Given the description of an element on the screen output the (x, y) to click on. 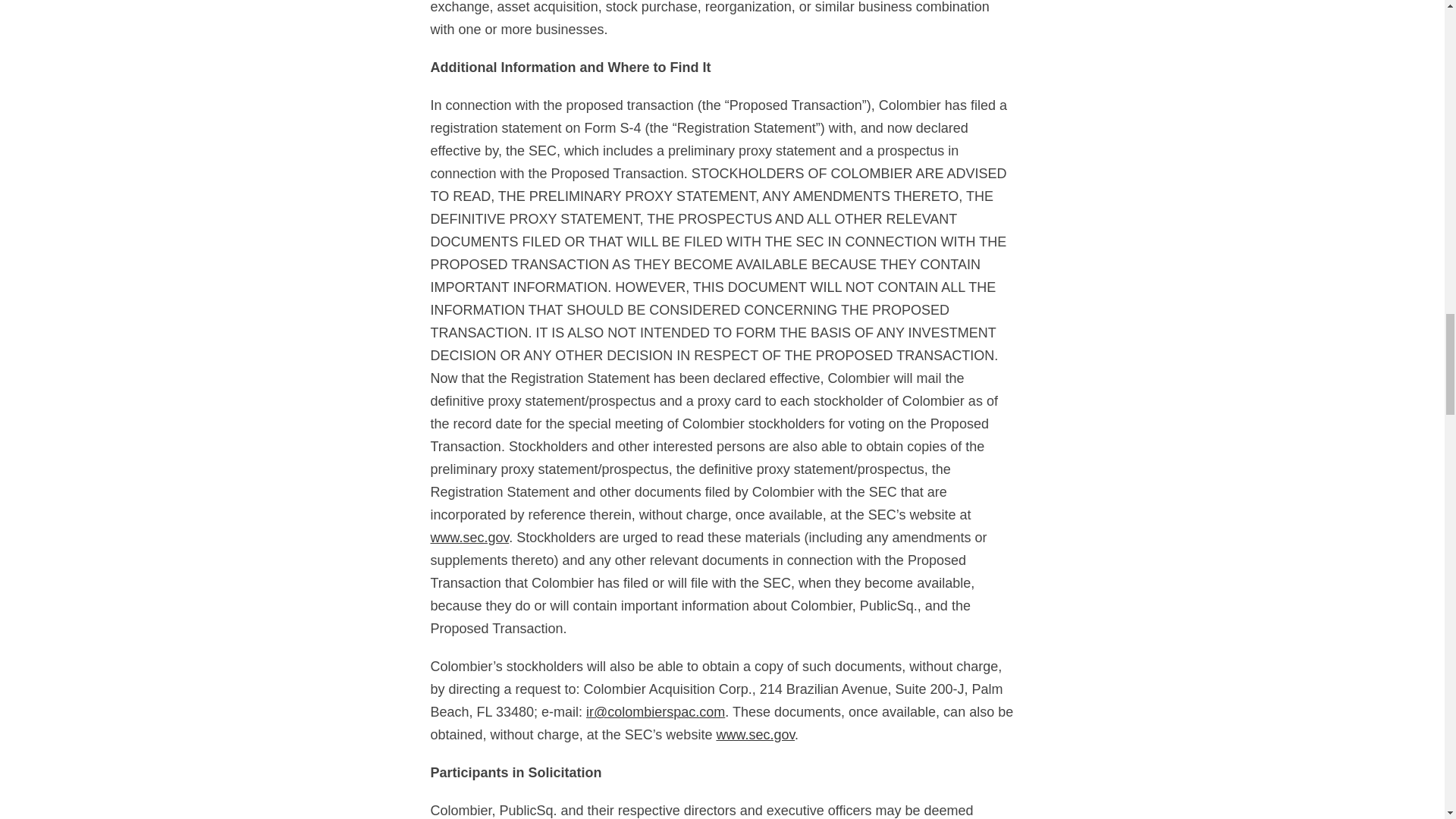
www.sec.gov (469, 537)
www.sec.gov (755, 734)
